Given the description of an element on the screen output the (x, y) to click on. 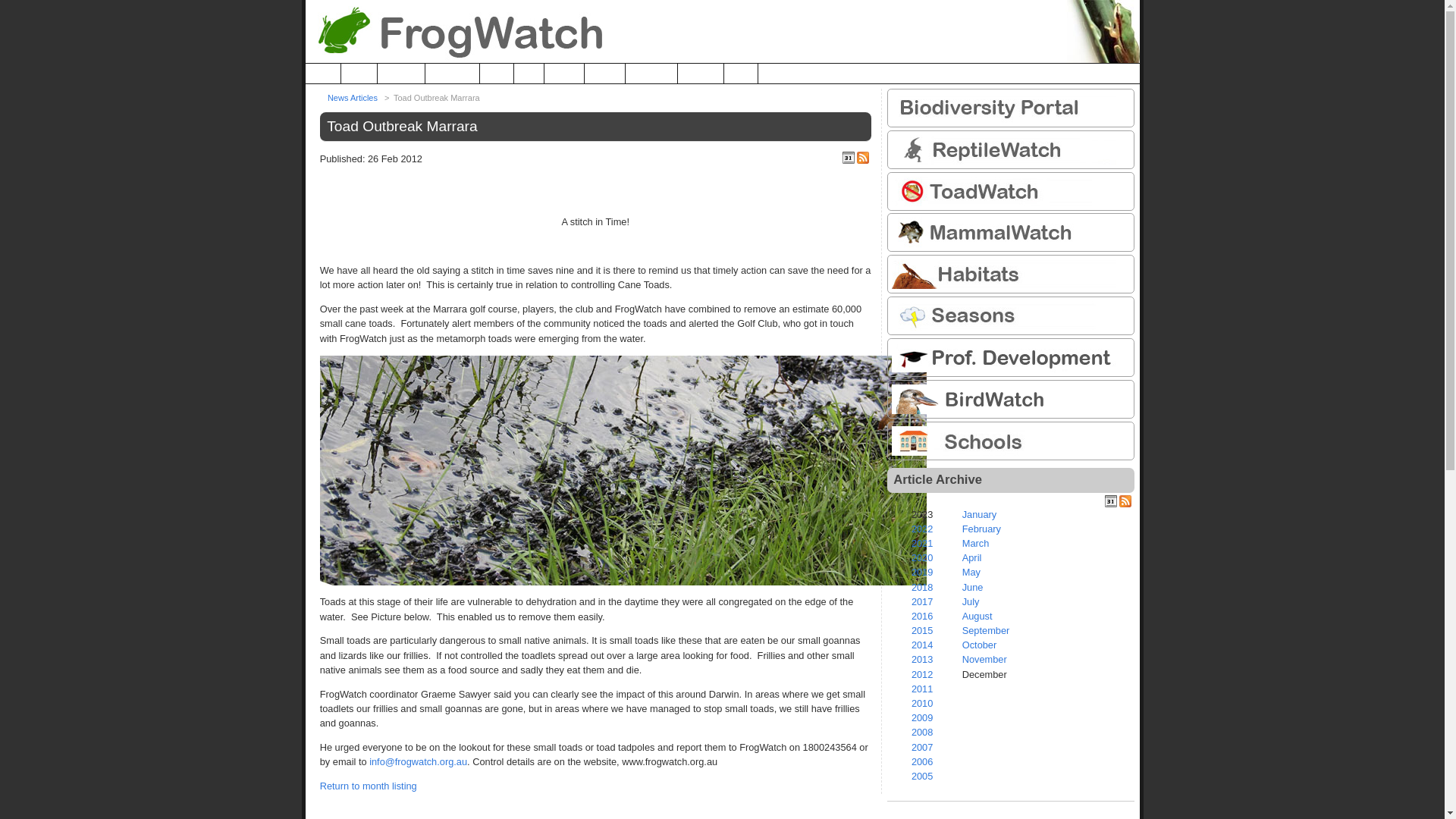
May Element type: text (971, 571)
Frog List Element type: text (401, 73)
2012 Element type: text (921, 674)
2017 Element type: text (921, 601)
2008 Element type: text (921, 731)
March Element type: text (975, 543)
2005 Element type: text (921, 775)
Home Element type: text (322, 73)
June Element type: text (972, 587)
Register Element type: text (700, 73)
2019 Element type: text (921, 571)
Login Element type: text (740, 73)
IdentiFrog Element type: text (451, 73)
November Element type: text (984, 659)
News Element type: text (497, 73)
2014 Element type: text (921, 644)
2021 Element type: text (921, 543)
February Element type: text (981, 528)
2015 Element type: text (921, 630)
January Element type: text (979, 514)
2013 Element type: text (921, 659)
FAQ Element type: text (528, 73)
April Element type: text (972, 557)
July Element type: text (970, 601)
info@frogwatch.org.au Element type: text (418, 761)
2022 Element type: text (921, 528)
About Element type: text (358, 73)
2018 Element type: text (921, 587)
September Element type: text (986, 630)
2006 Element type: text (921, 761)
News Articles Element type: text (352, 97)
2007 Element type: text (921, 747)
Return to month listing Element type: text (368, 785)
2016 Element type: text (921, 615)
2020 Element type: text (921, 557)
Search Element type: text (604, 73)
2010 Element type: text (921, 703)
Research Element type: text (651, 73)
October Element type: text (979, 644)
August Element type: text (977, 615)
Library Element type: text (563, 73)
2009 Element type: text (921, 717)
2011 Element type: text (921, 688)
